Given the description of an element on the screen output the (x, y) to click on. 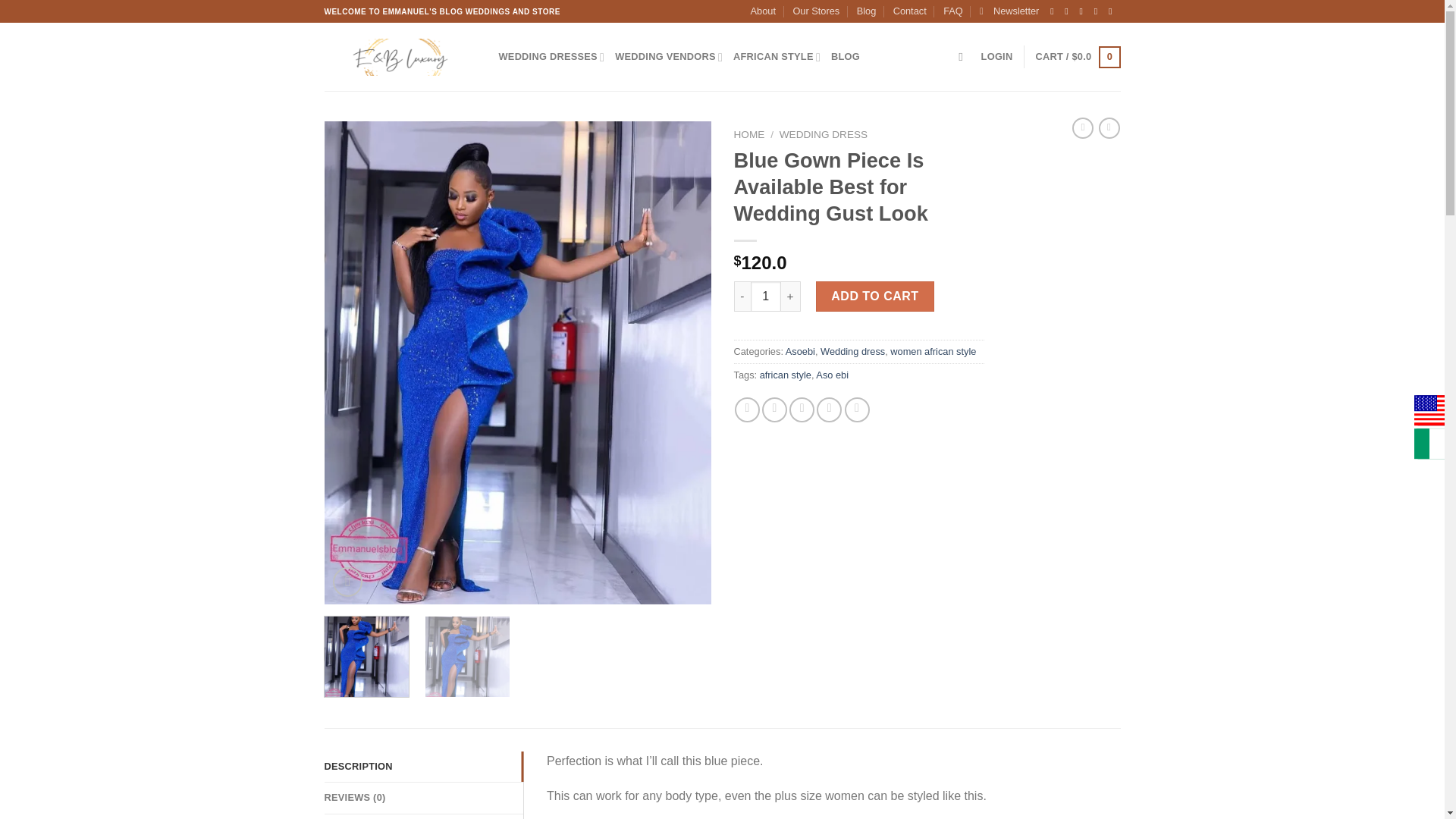
1 (765, 296)
WEDDING DRESSES (552, 57)
Sign up for Newsletter (1009, 11)
EsB Store - Pan African Online Store For Custom Made Dresses (400, 56)
WEDDING VENDORS (668, 57)
Newsletter (1009, 11)
Cart (1077, 57)
Our Stores (816, 11)
About (763, 11)
Contact (909, 11)
